Given the description of an element on the screen output the (x, y) to click on. 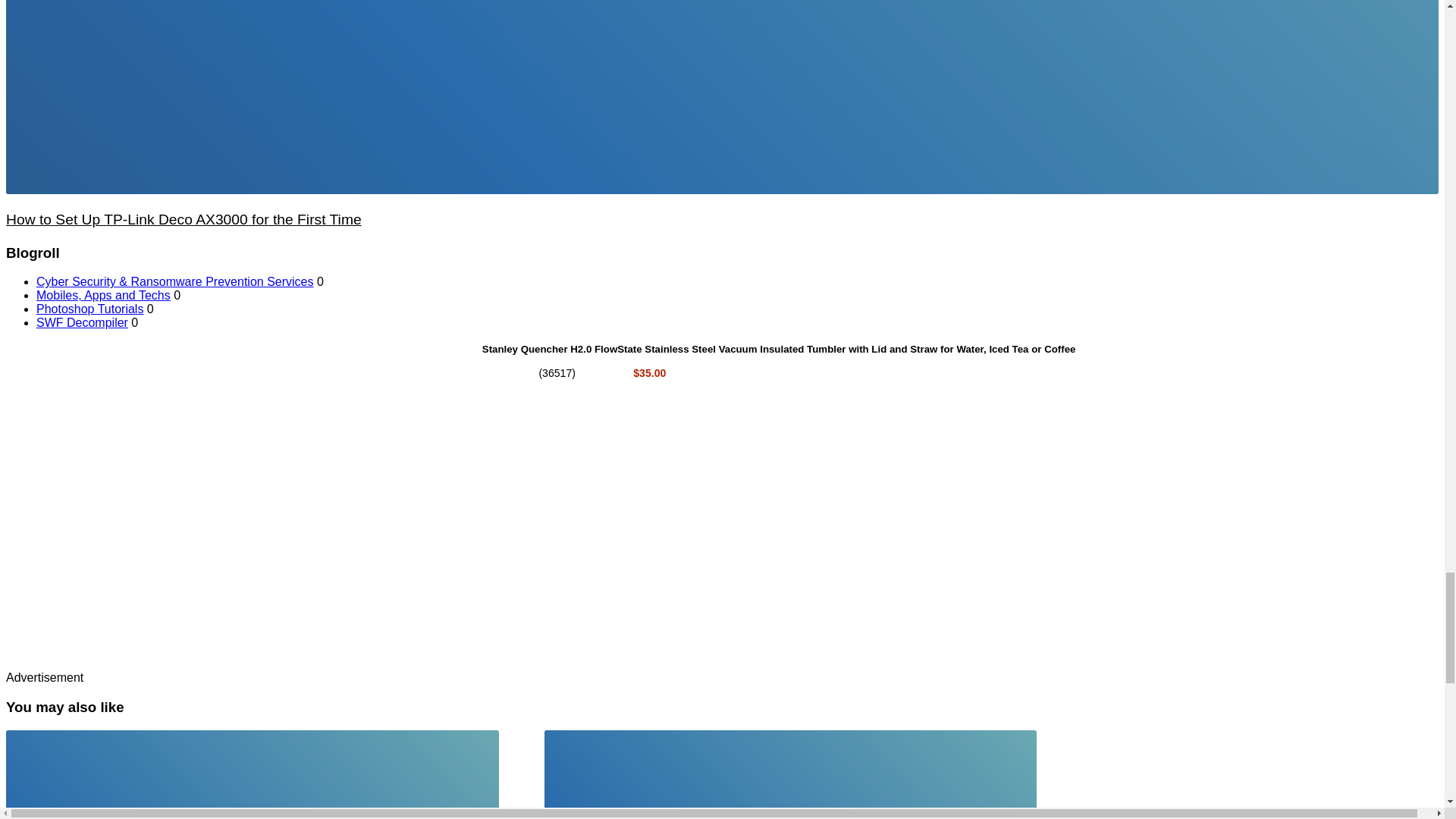
Mobiles, Apps and Techs (103, 295)
Photoshop Tutorials (89, 308)
How to Set Up TP-Link Deco AX3000 for the First Time (183, 219)
SWF Decompiler (82, 322)
36517 (556, 372)
